Given the description of an element on the screen output the (x, y) to click on. 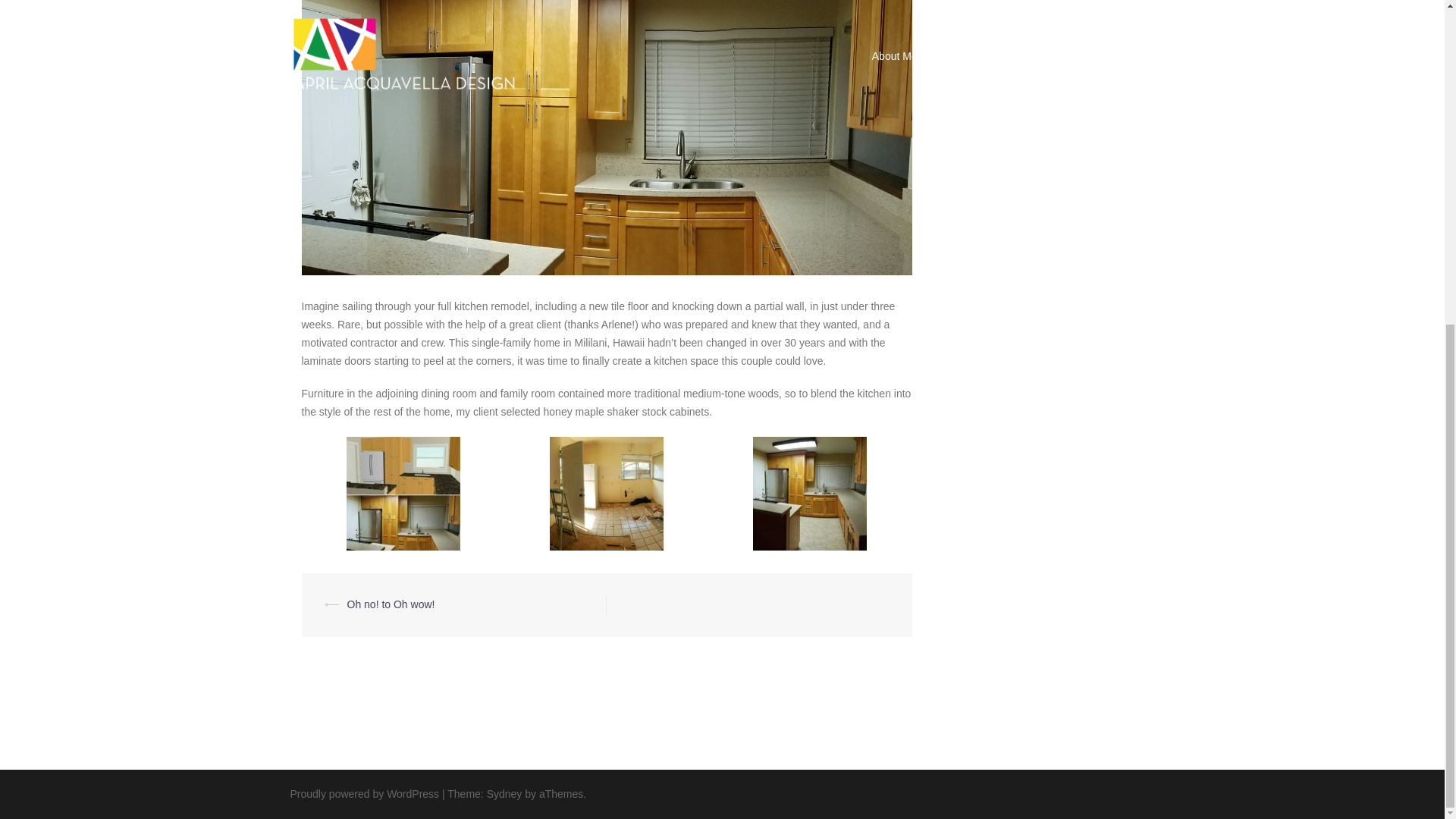
Oh no! to Oh wow! (391, 604)
Sydney (504, 793)
Proudly powered by WordPress (364, 793)
